Given the description of an element on the screen output the (x, y) to click on. 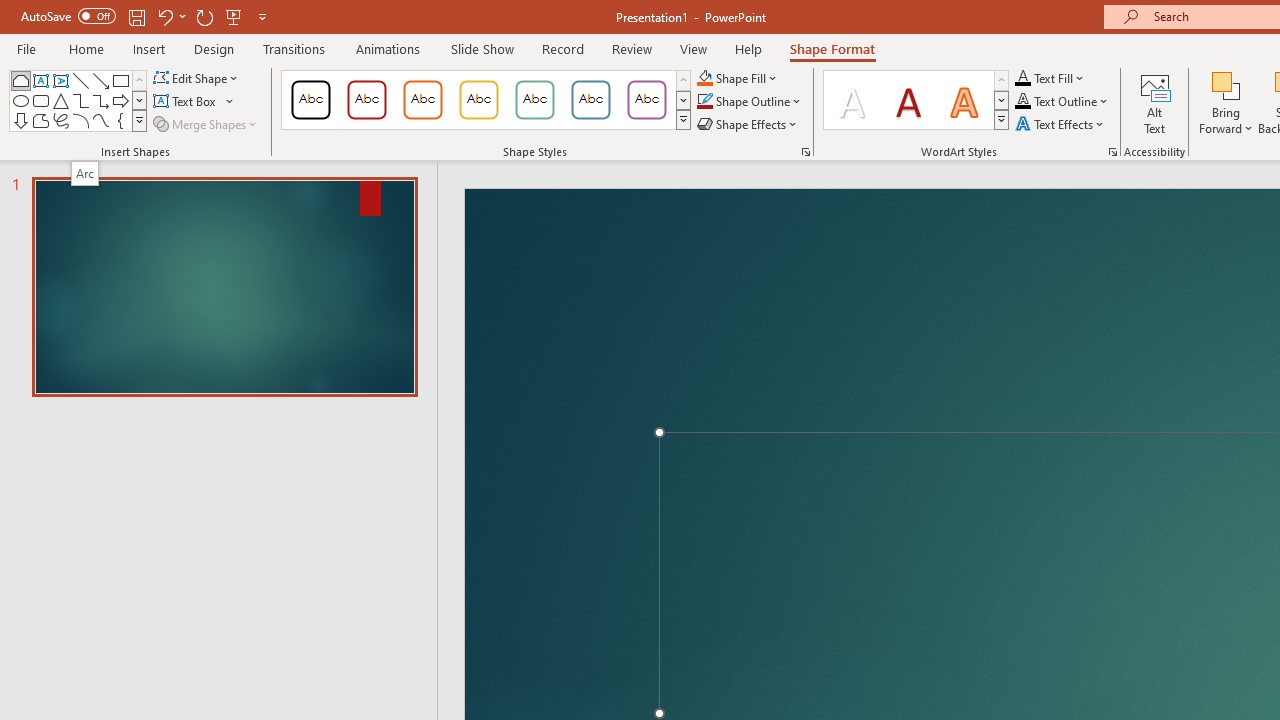
Bring Forward (1225, 102)
AutomationID: TextStylesGallery (916, 99)
Format Text Effects... (1112, 151)
Text Fill RGB(0, 0, 0) (1023, 78)
Merge Shapes (206, 124)
Fill: White, Text color 1; Shadow (852, 100)
